Given the description of an element on the screen output the (x, y) to click on. 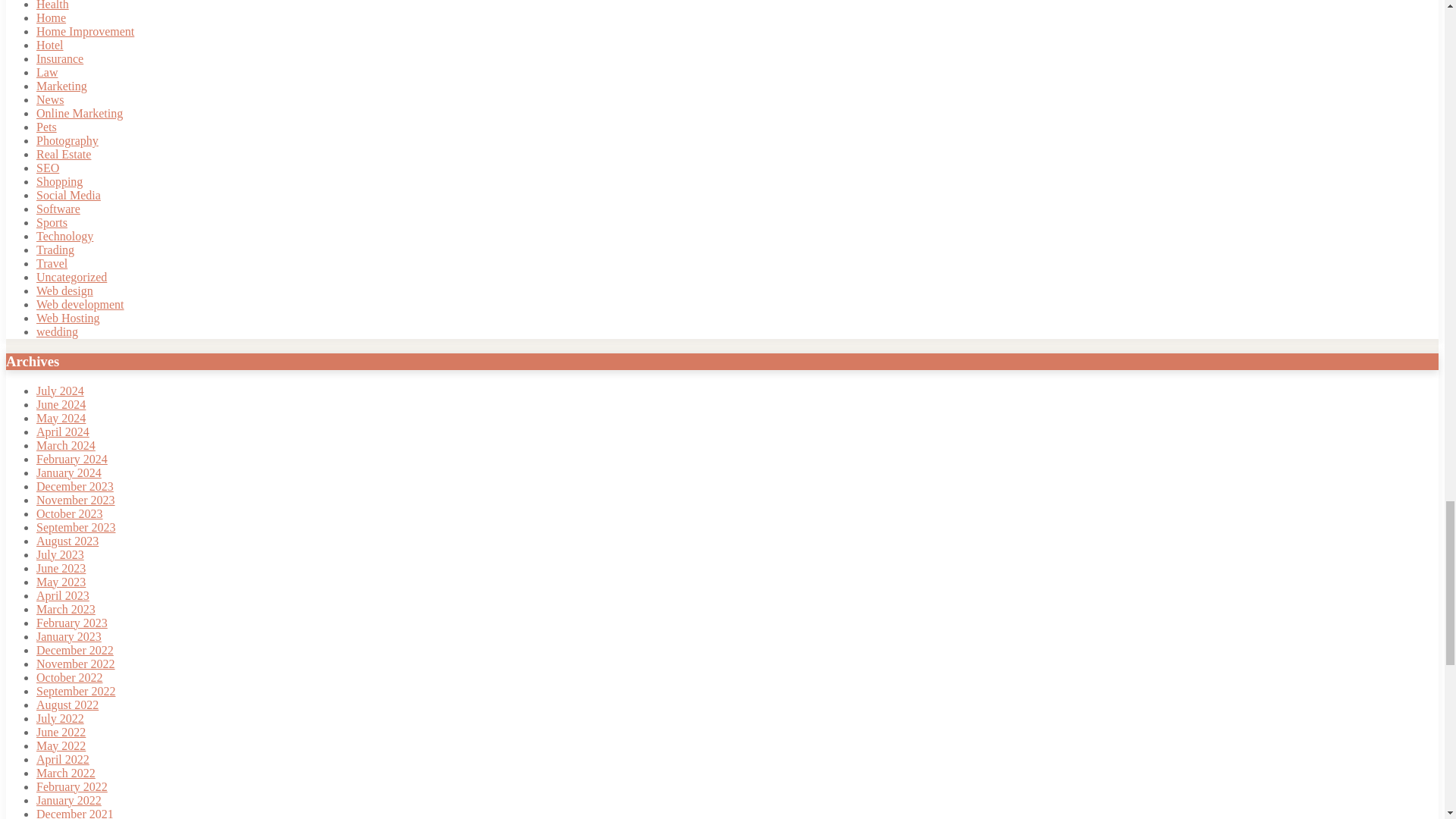
Hotel (50, 44)
Home Improvement (84, 31)
Home (50, 17)
Health (52, 5)
